Given the description of an element on the screen output the (x, y) to click on. 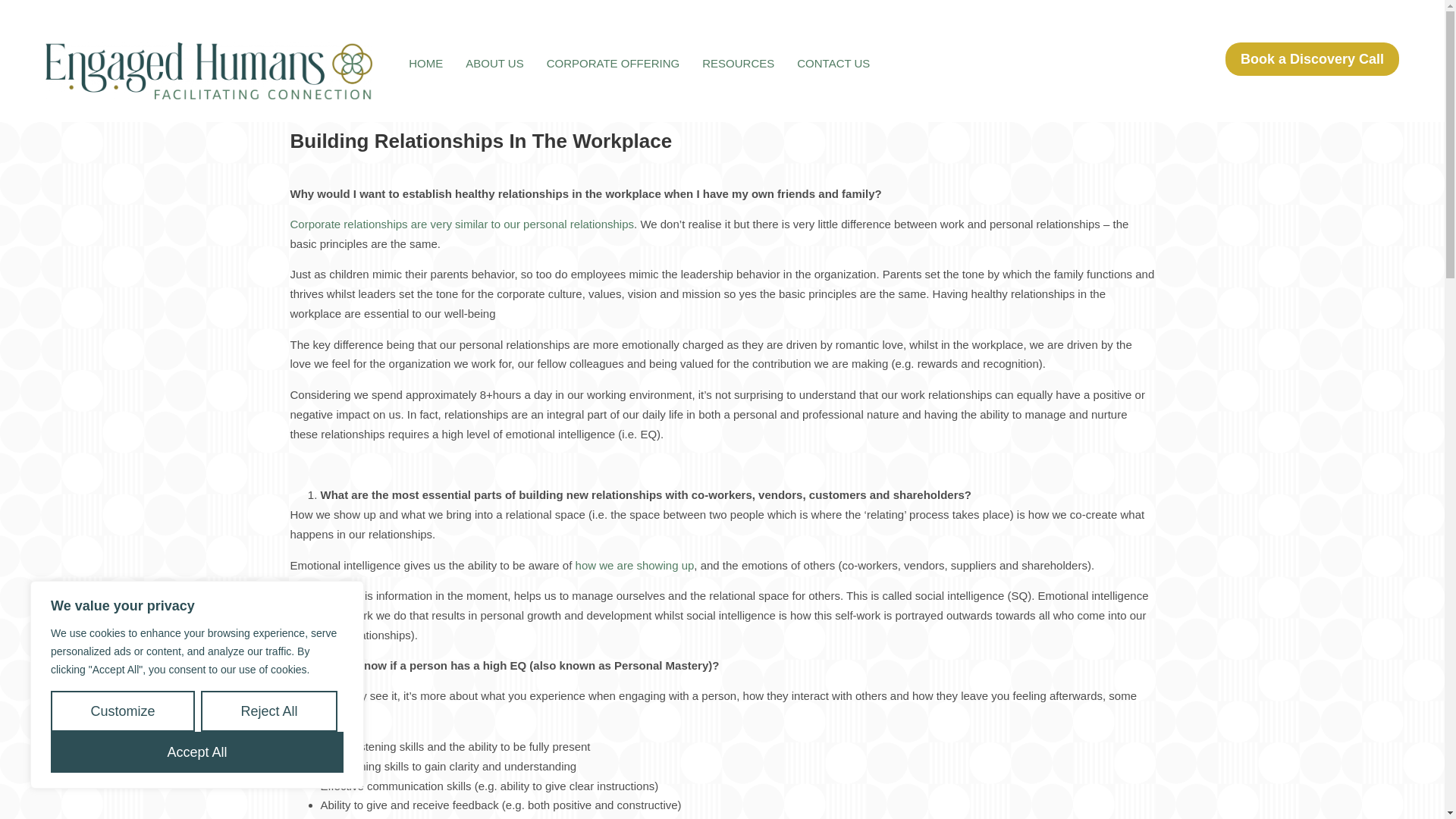
Accept All (196, 752)
Reject All (268, 711)
Customize (122, 711)
